Given the description of an element on the screen output the (x, y) to click on. 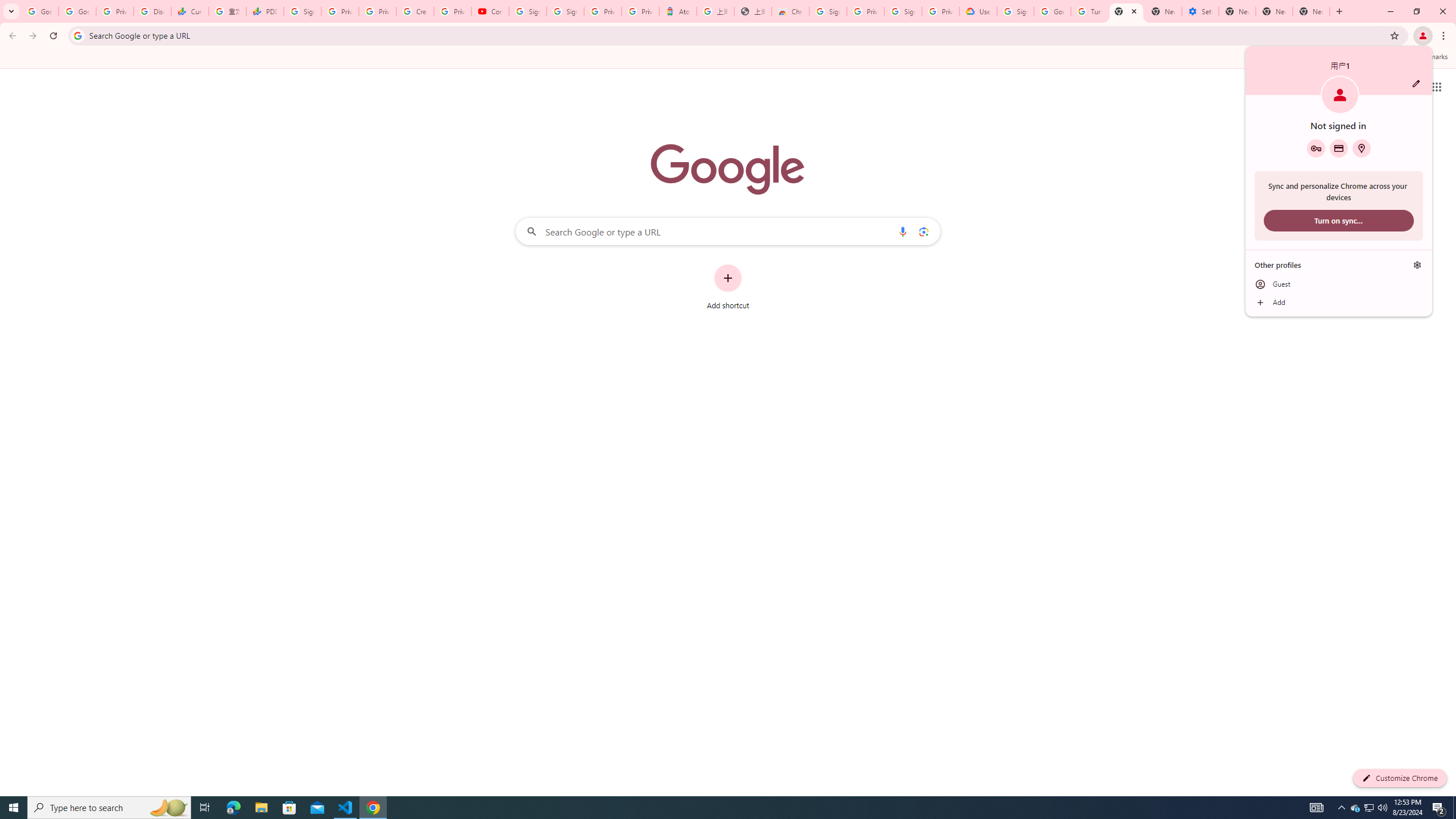
Show desktop (1454, 807)
Atour Hotel - Google hotels (677, 11)
File Explorer (261, 807)
Microsoft Edge (233, 807)
New Tab (1126, 11)
PDD Holdings Inc - ADR (PDD) Price & News - Google Finance (264, 11)
Google Workspace Admin Community (1355, 807)
Action Center, 2 new notifications (40, 11)
Sign in - Google Accounts (1439, 807)
